Given the description of an element on the screen output the (x, y) to click on. 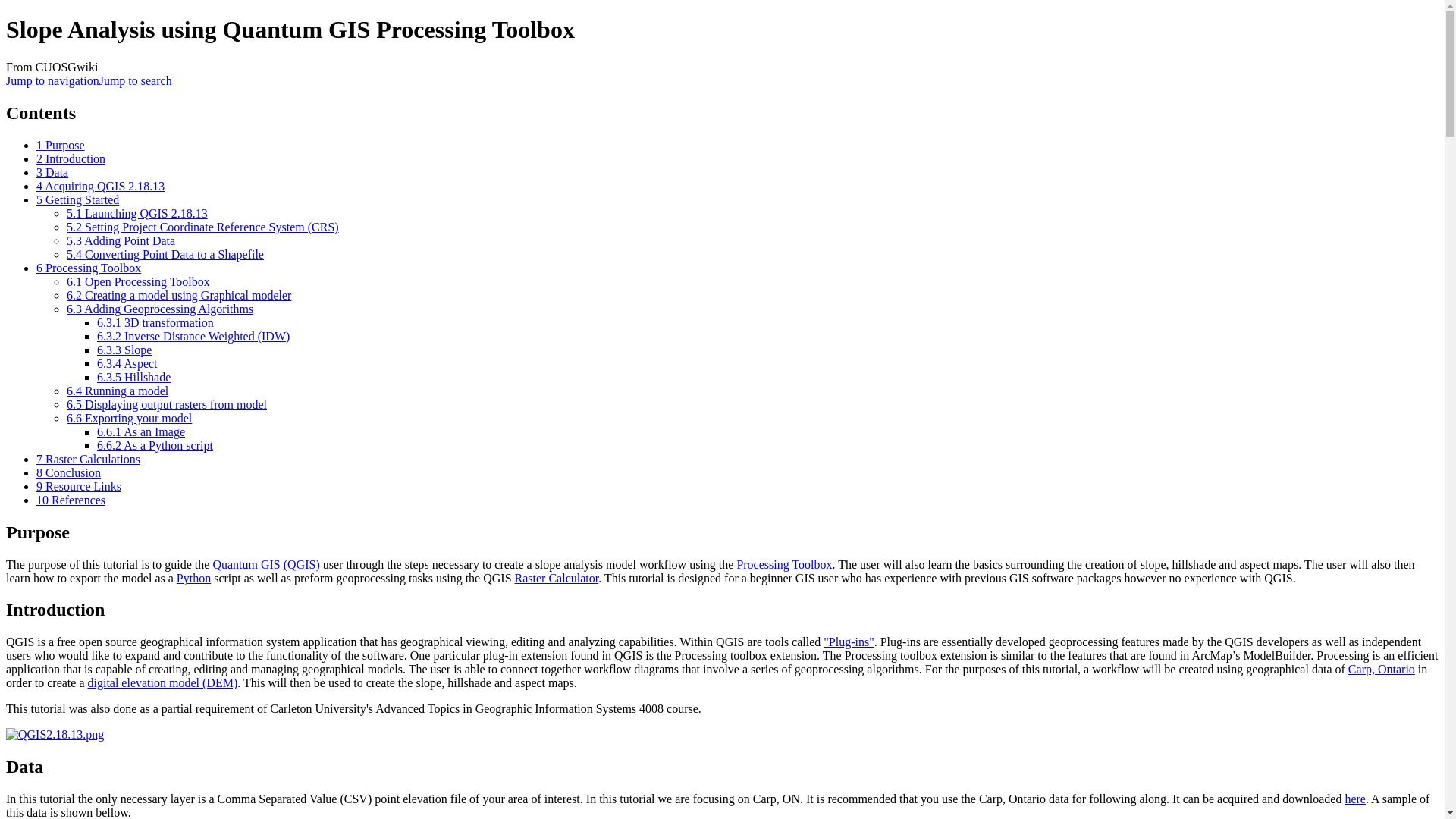
Python (193, 577)
5 Getting Started (77, 199)
Raster Calculator (556, 577)
6.4 Running a model (117, 390)
5.3 Adding Point Data (120, 240)
6.3.3 Slope (124, 349)
3 Data (52, 172)
Processing Toolbox (783, 563)
6.3.4 Aspect (127, 363)
6 Processing Toolbox (88, 267)
6.6 Exporting your model (129, 418)
1 Purpose (60, 144)
6.3.5 Hillshade (133, 377)
5.1 Launching QGIS 2.18.13 (137, 213)
Carp, Ontario (1381, 668)
